Given the description of an element on the screen output the (x, y) to click on. 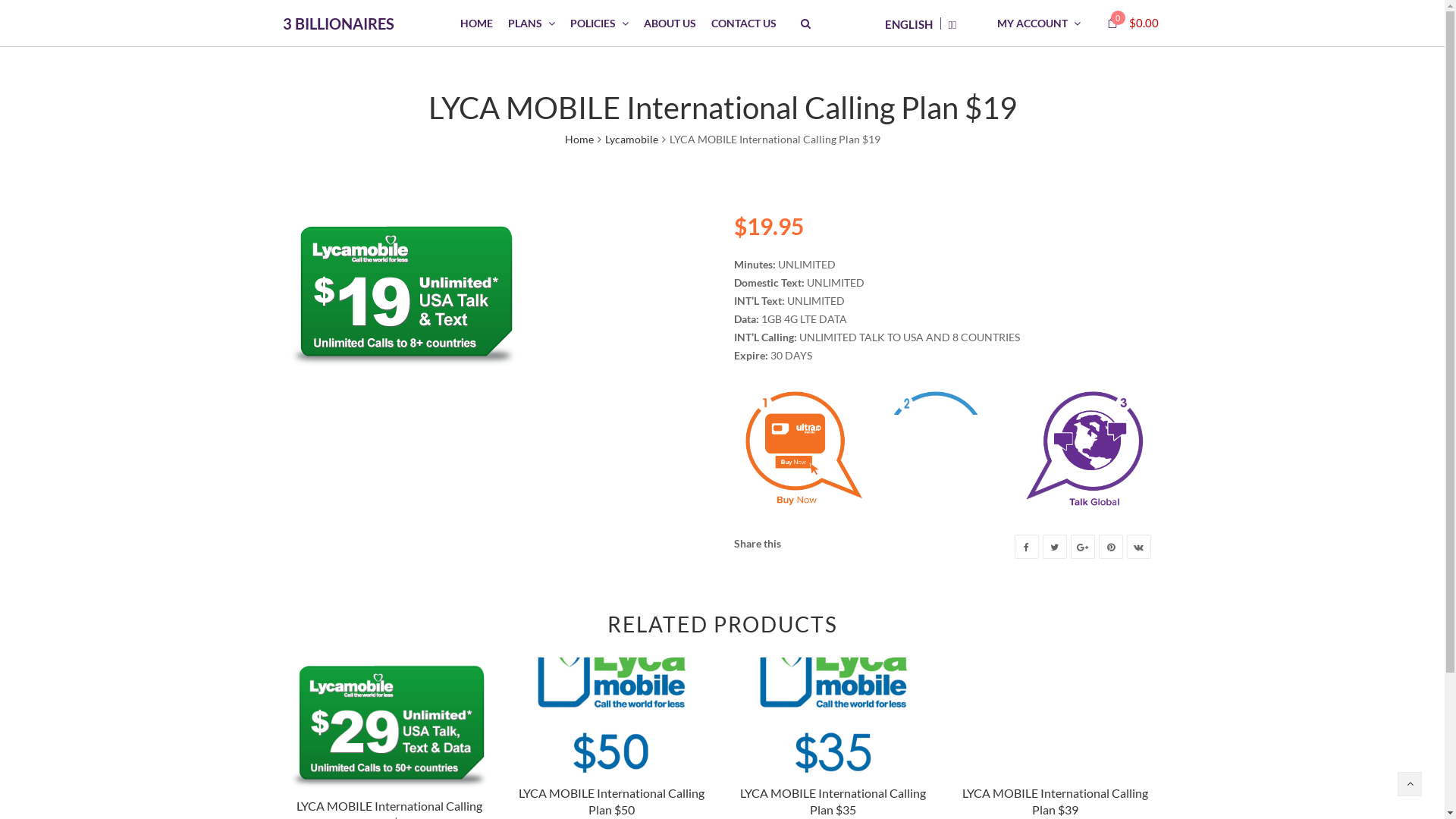
ENGLISH Element type: text (908, 22)
Facebook Element type: hover (1026, 546)
Back to top Element type: hover (1409, 783)
CONTACT US Element type: text (743, 22)
PLANS Element type: text (531, 22)
LYCA MOBILE International Calling Plan $39 Element type: text (1055, 800)
VK Element type: hover (1138, 546)
Googleplus Element type: hover (1082, 546)
MY ACCOUNT Element type: text (1038, 22)
Lycamobile Element type: text (631, 138)
3 BILLIONAIRES Element type: text (337, 22)
LYCA MOBILE International Calling Plan $35 Element type: text (832, 800)
Twitter Element type: hover (1053, 546)
LYCA MOBILE International Calling Plan $50 Element type: text (611, 800)
HOME Element type: text (476, 22)
Home Element type: text (578, 138)
Pinterest Element type: hover (1110, 546)
ABOUT US Element type: text (669, 22)
POLICIES Element type: text (599, 22)
